Given the description of an element on the screen output the (x, y) to click on. 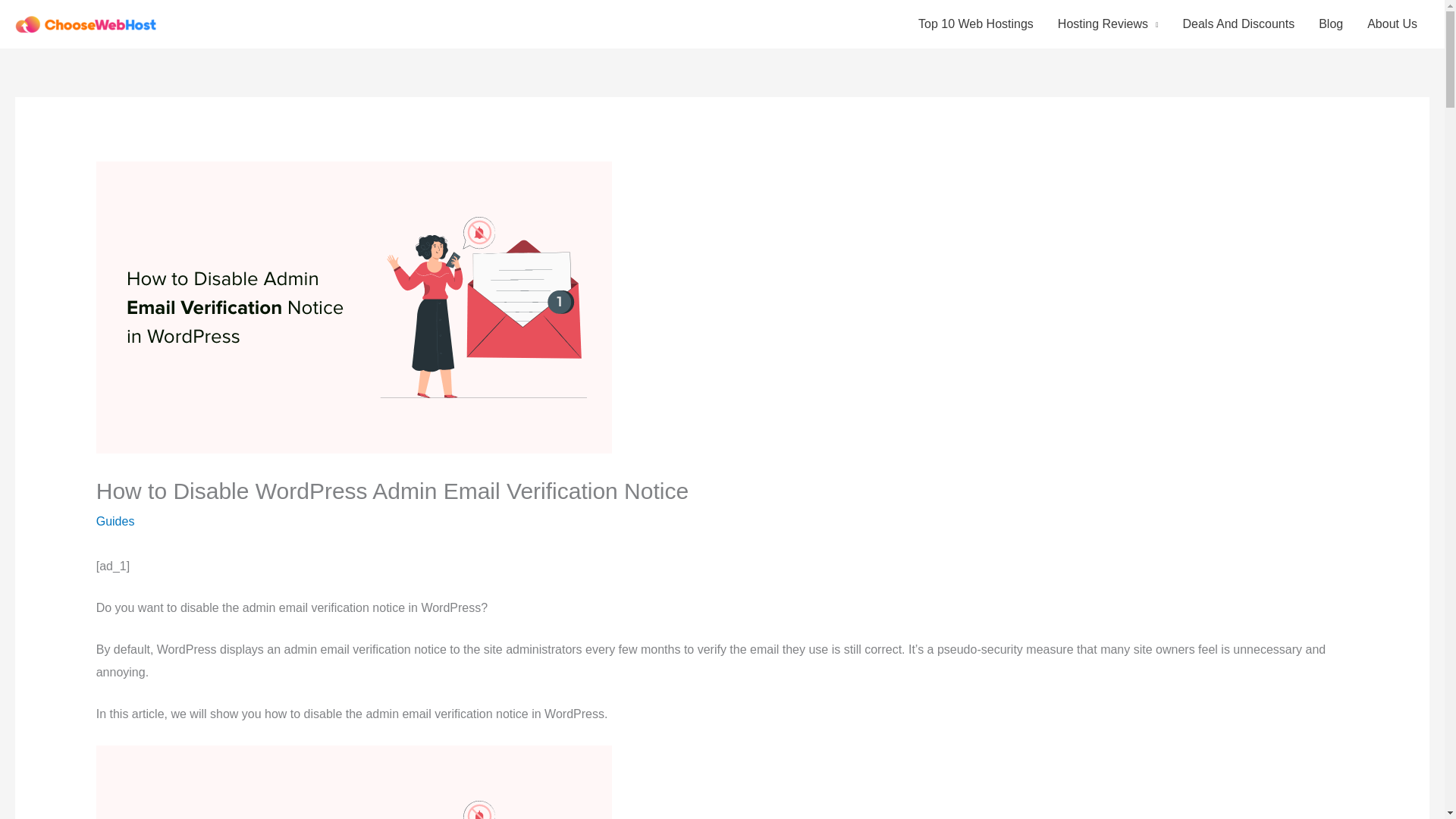
Deals And Discounts (1238, 24)
Blog (1330, 24)
Top 10 Web Hostings (975, 24)
Hosting Reviews (1107, 24)
Guides (115, 521)
About Us (1392, 24)
